Given the description of an element on the screen output the (x, y) to click on. 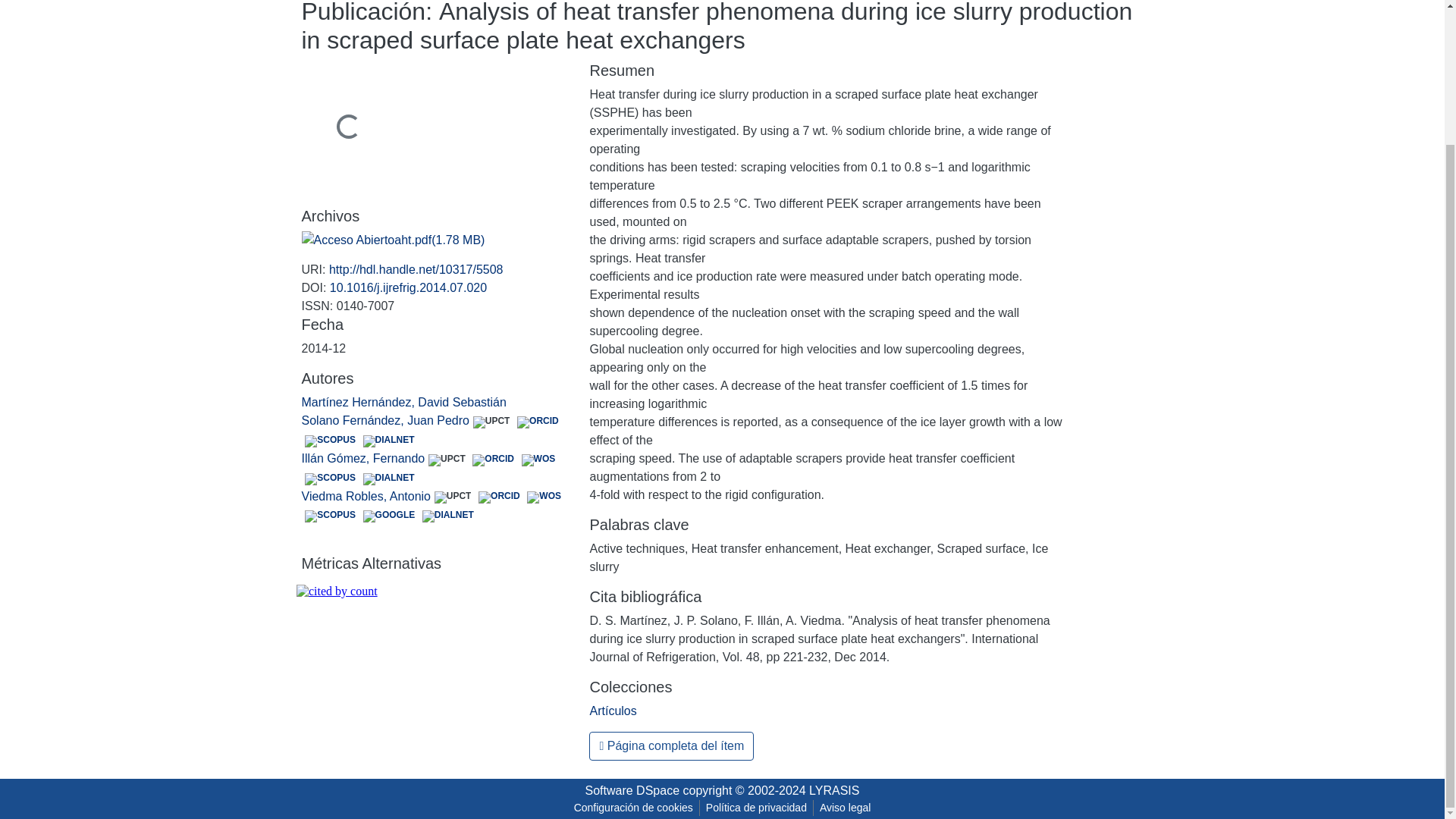
GOOGLE (389, 515)
DIAL (389, 441)
Autor UPCT (490, 422)
ORCID (537, 422)
SCOPUS (330, 441)
SCOPUS (330, 515)
ORCID (498, 497)
WOS (538, 460)
WOS (544, 497)
Autor UPCT (452, 497)
